Given the description of an element on the screen output the (x, y) to click on. 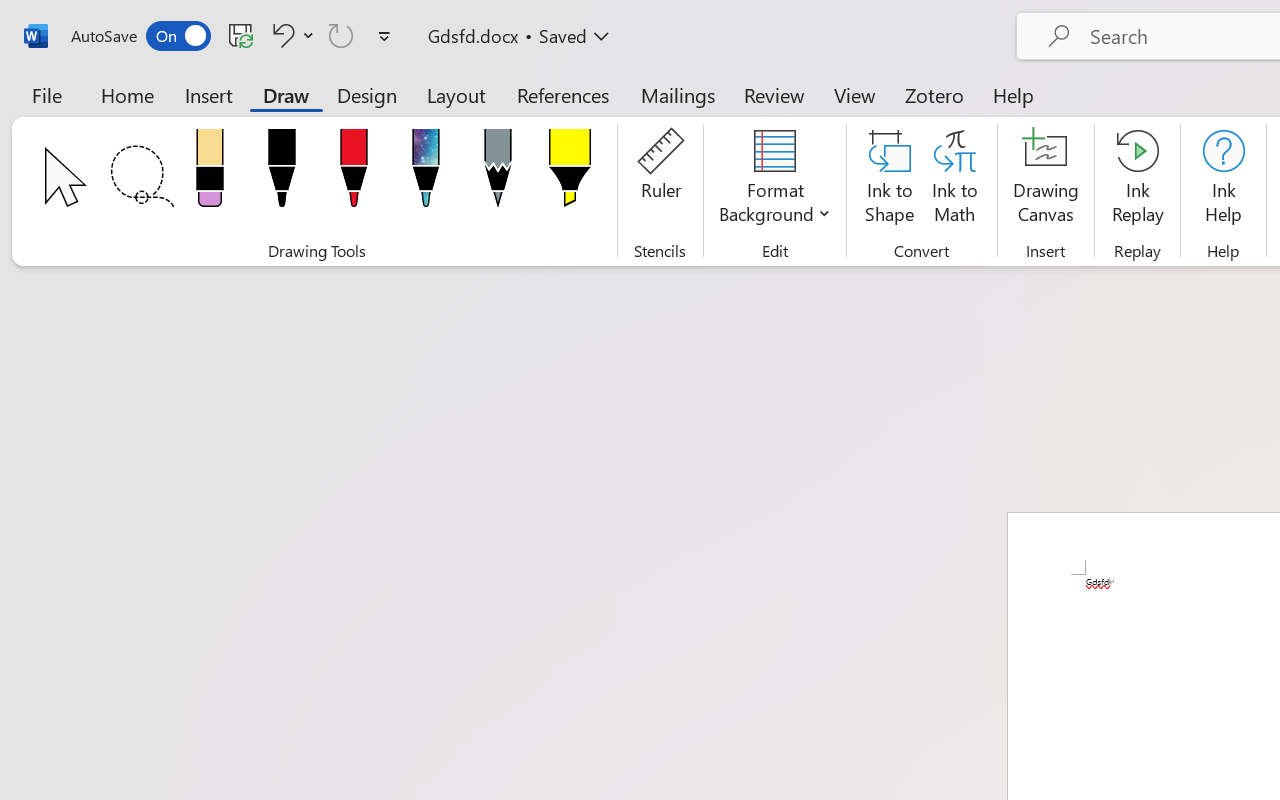
Pen: Black, 0.5 mm (281, 173)
Drawing Canvas (1045, 179)
Pen: Red, 0.5 mm (353, 173)
Can't Repeat (341, 35)
